Given the description of an element on the screen output the (x, y) to click on. 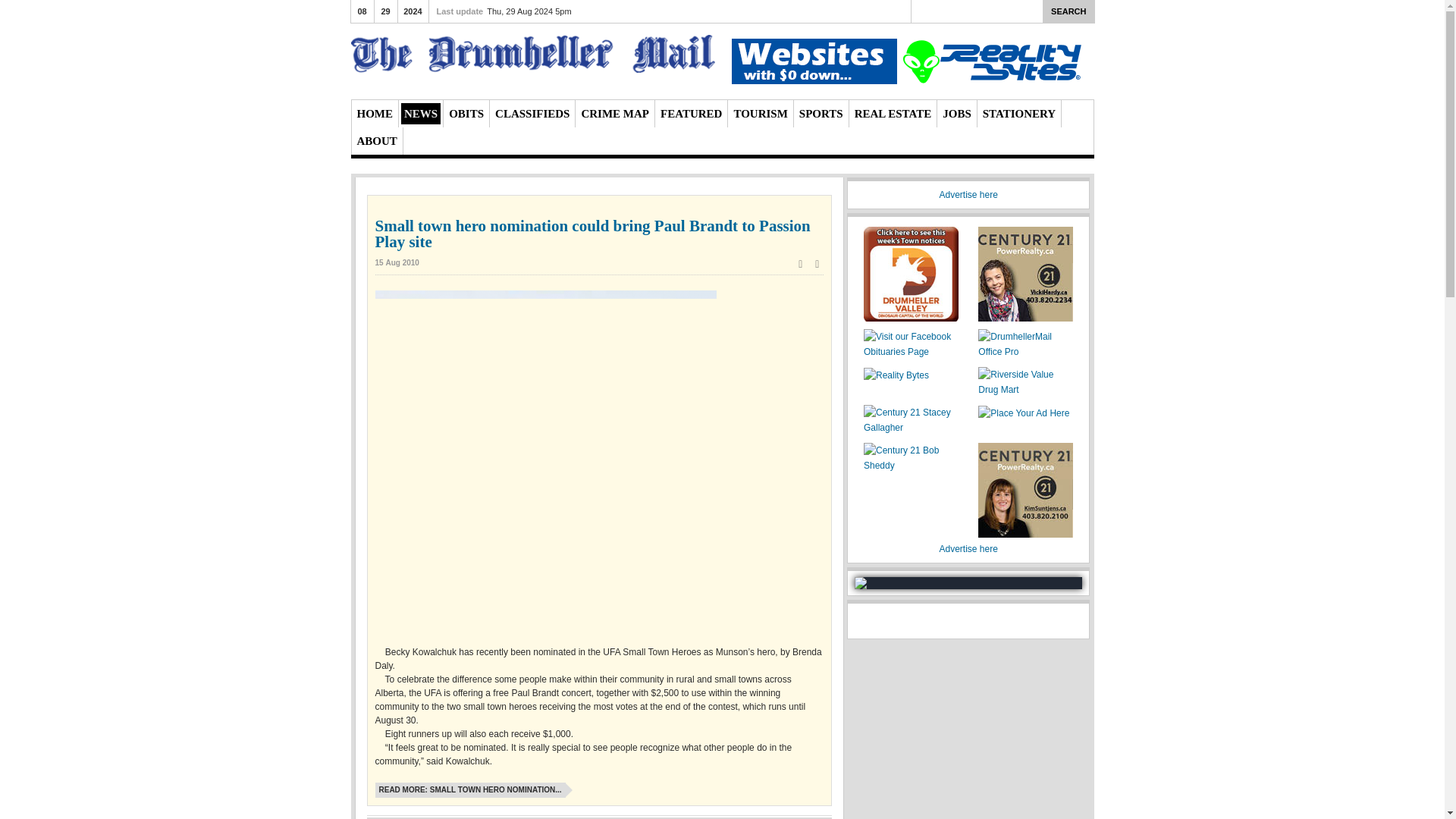
FEATURED (691, 113)
DrumhellerMail (532, 56)
ABOUT (375, 140)
Email (817, 263)
CLASSIFIEDS (532, 113)
Search (1067, 11)
JOBS (956, 113)
Search (1067, 11)
TOURISM (760, 113)
OBITS (465, 113)
